Given the description of an element on the screen output the (x, y) to click on. 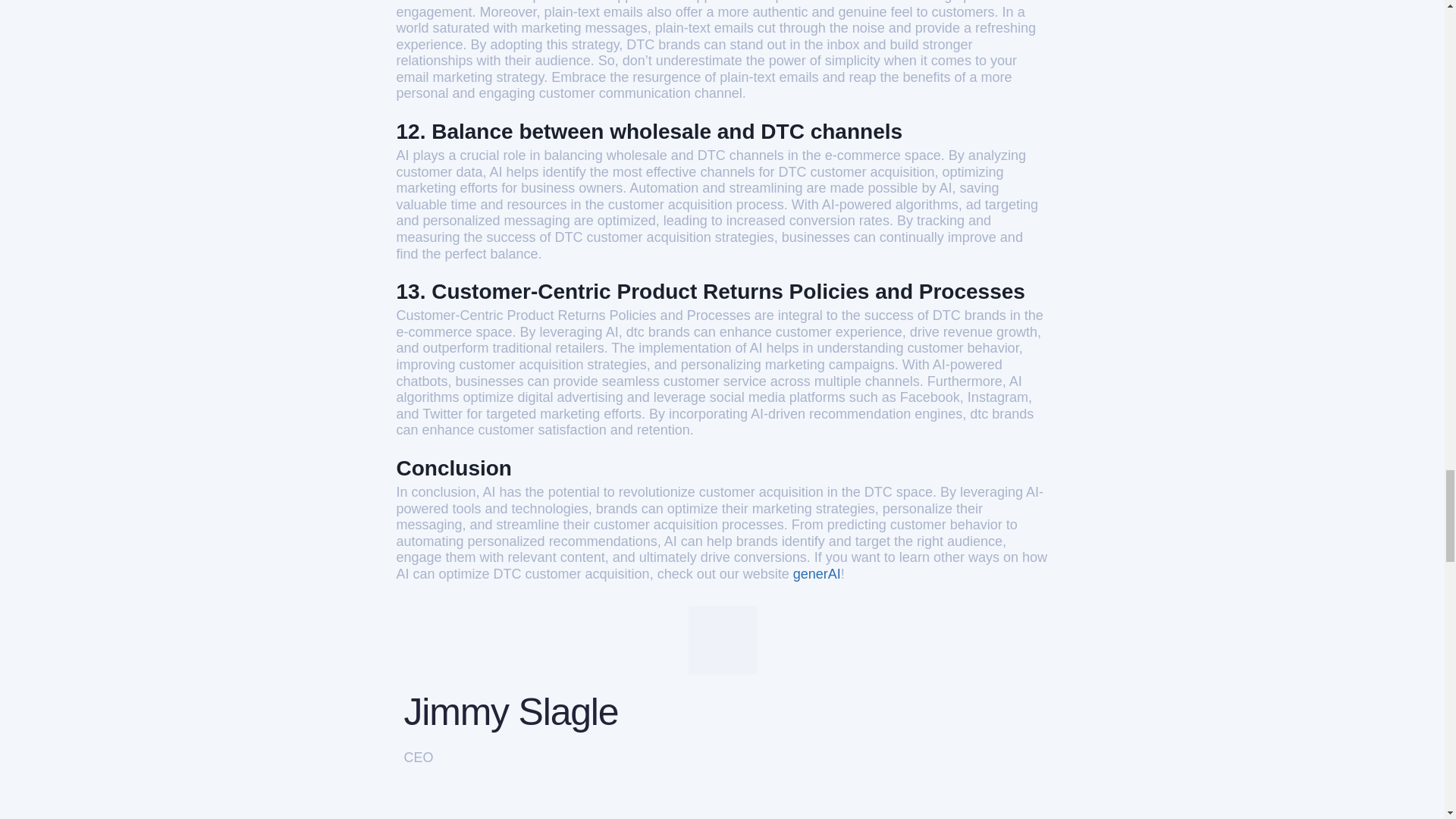
generAI (817, 573)
